Given the description of an element on the screen output the (x, y) to click on. 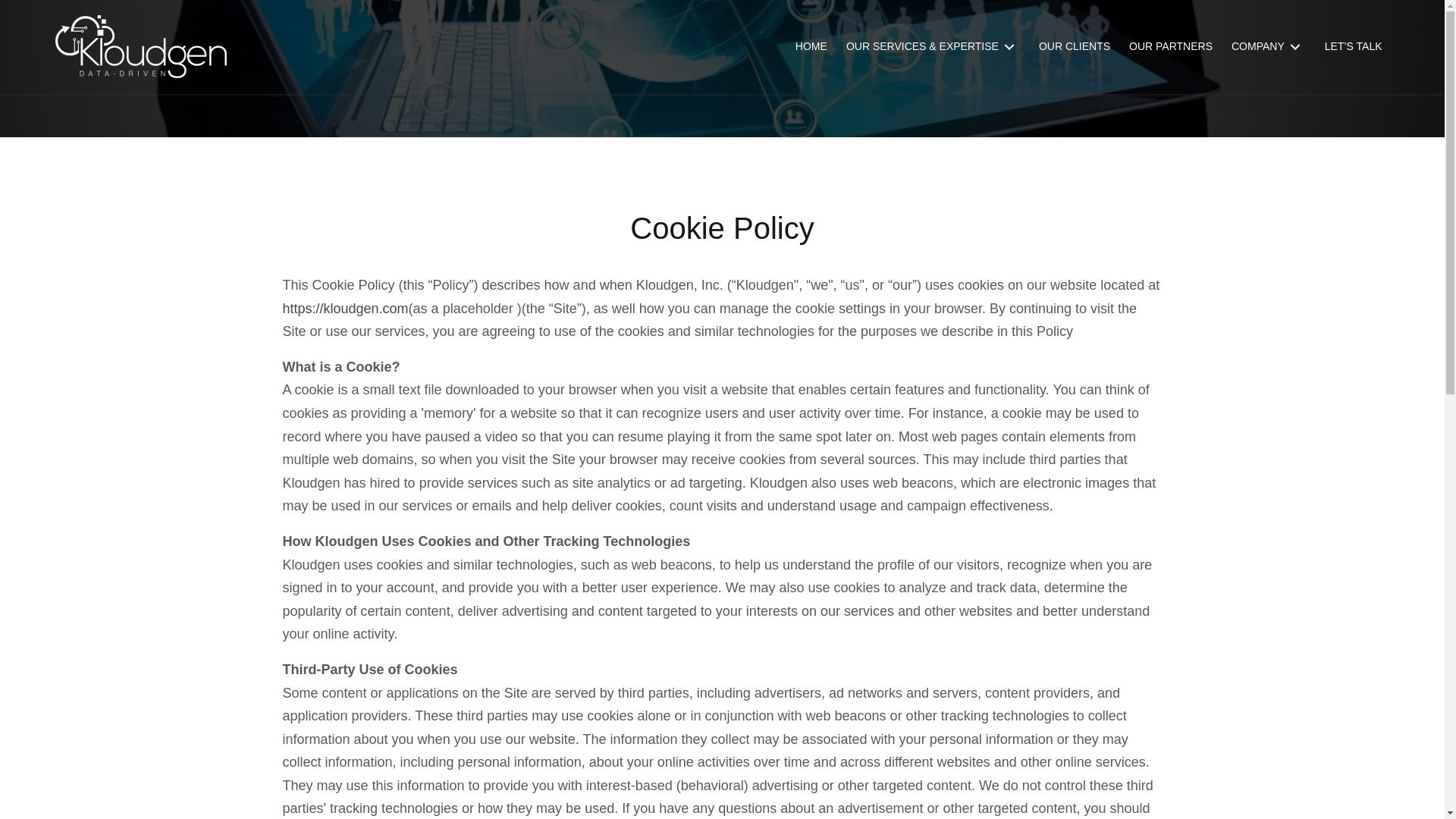
OUR CLIENTS (1074, 46)
OUR PARTNERS (1170, 46)
Kloudgen INC. (140, 46)
COMPANY (1268, 46)
HOME (810, 46)
